Given the description of an element on the screen output the (x, y) to click on. 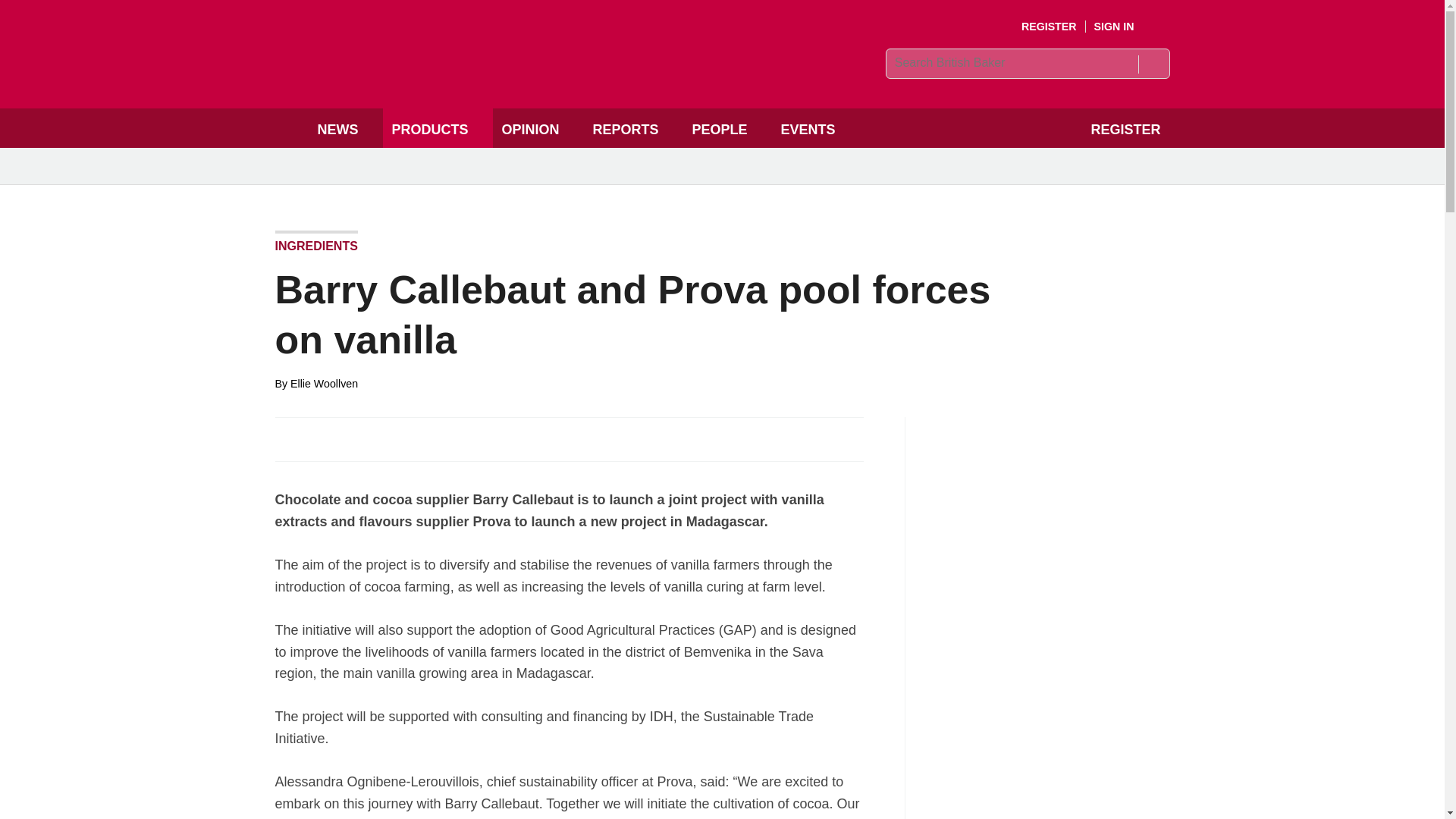
SEARCH (1153, 63)
No comments (840, 447)
Share this on Facebook (288, 438)
Site name (484, 76)
Share this on Twitter (320, 438)
REGISTER (1049, 26)
SIGN IN (1125, 26)
Share this on Linked in (352, 438)
Email this article (386, 438)
